Given the description of an element on the screen output the (x, y) to click on. 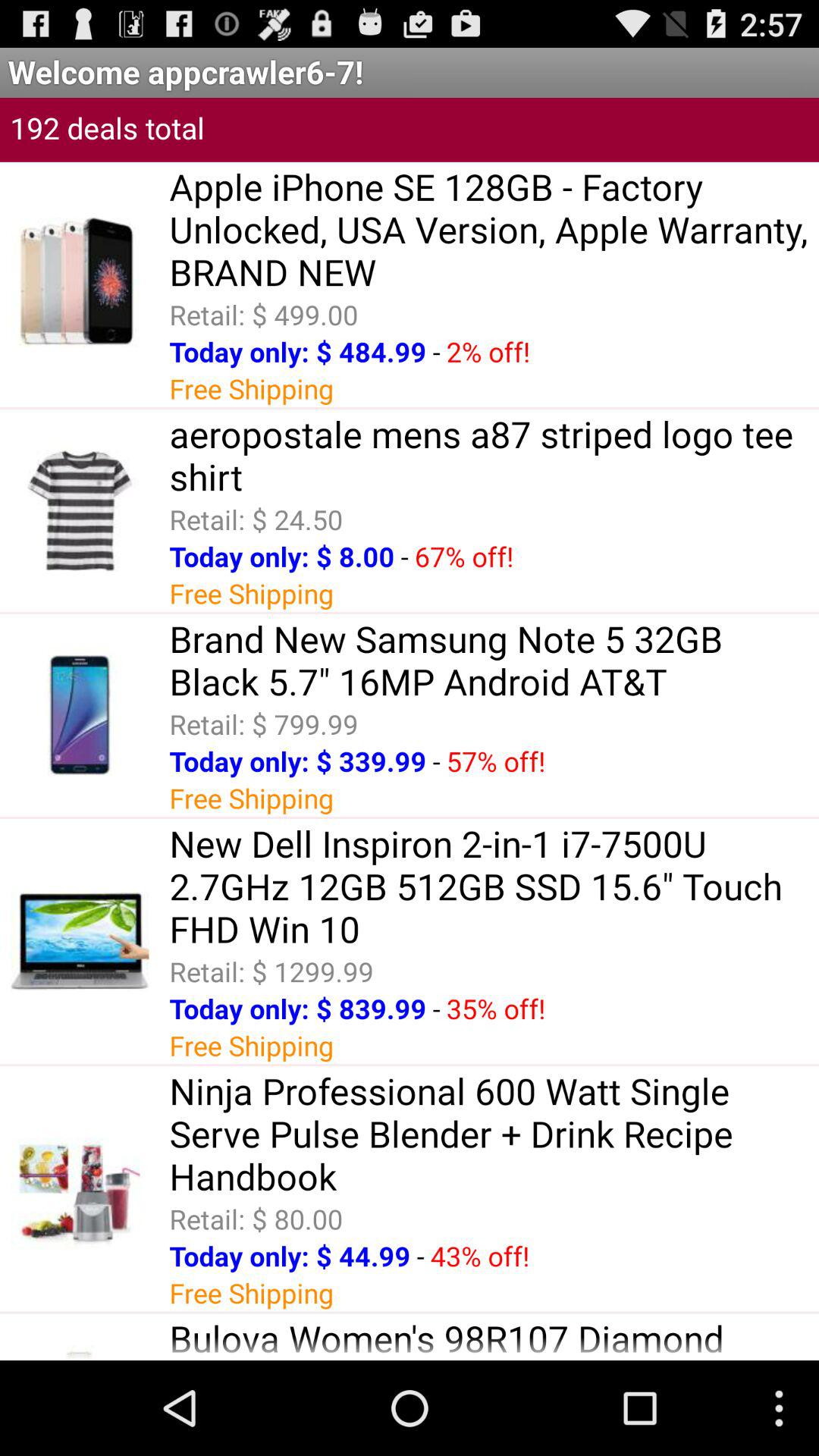
swipe to - item (420, 1255)
